Given the description of an element on the screen output the (x, y) to click on. 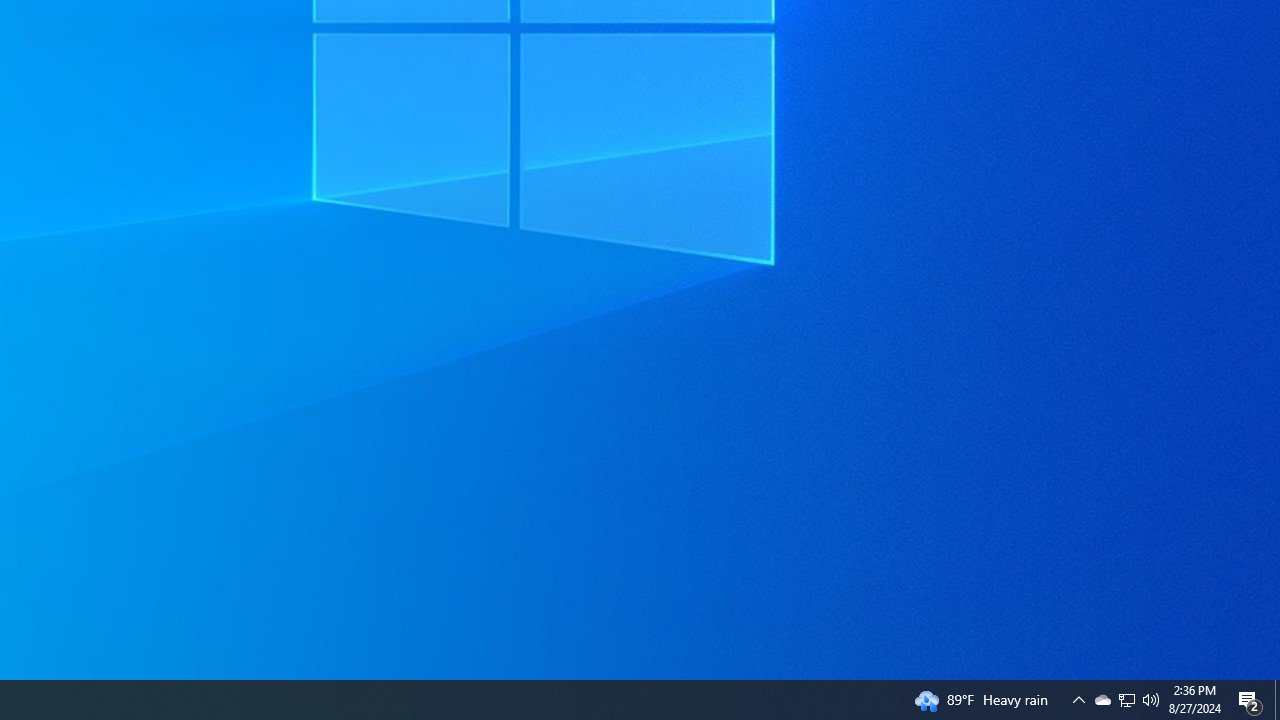
Action Center, 2 new notifications (1126, 699)
Q2790: 100% (1250, 699)
User Promoted Notification Area (1151, 699)
Show desktop (1102, 699)
Notification Chevron (1126, 699)
